Given the description of an element on the screen output the (x, y) to click on. 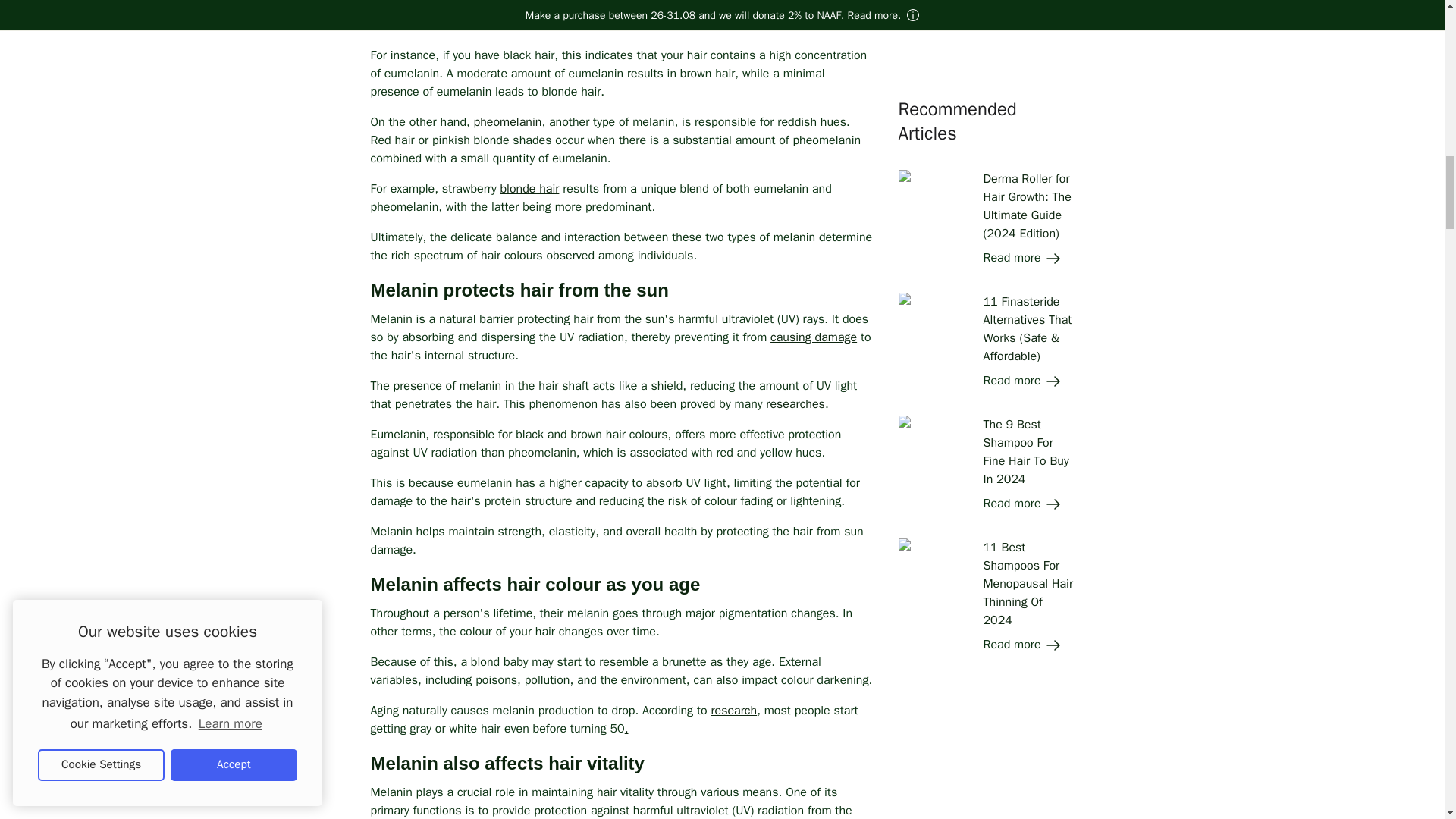
causing damage (813, 337)
researches (792, 403)
blonde hair (529, 188)
research (733, 710)
pheomelanin (507, 121)
Eumelanin (397, 7)
